Given the description of an element on the screen output the (x, y) to click on. 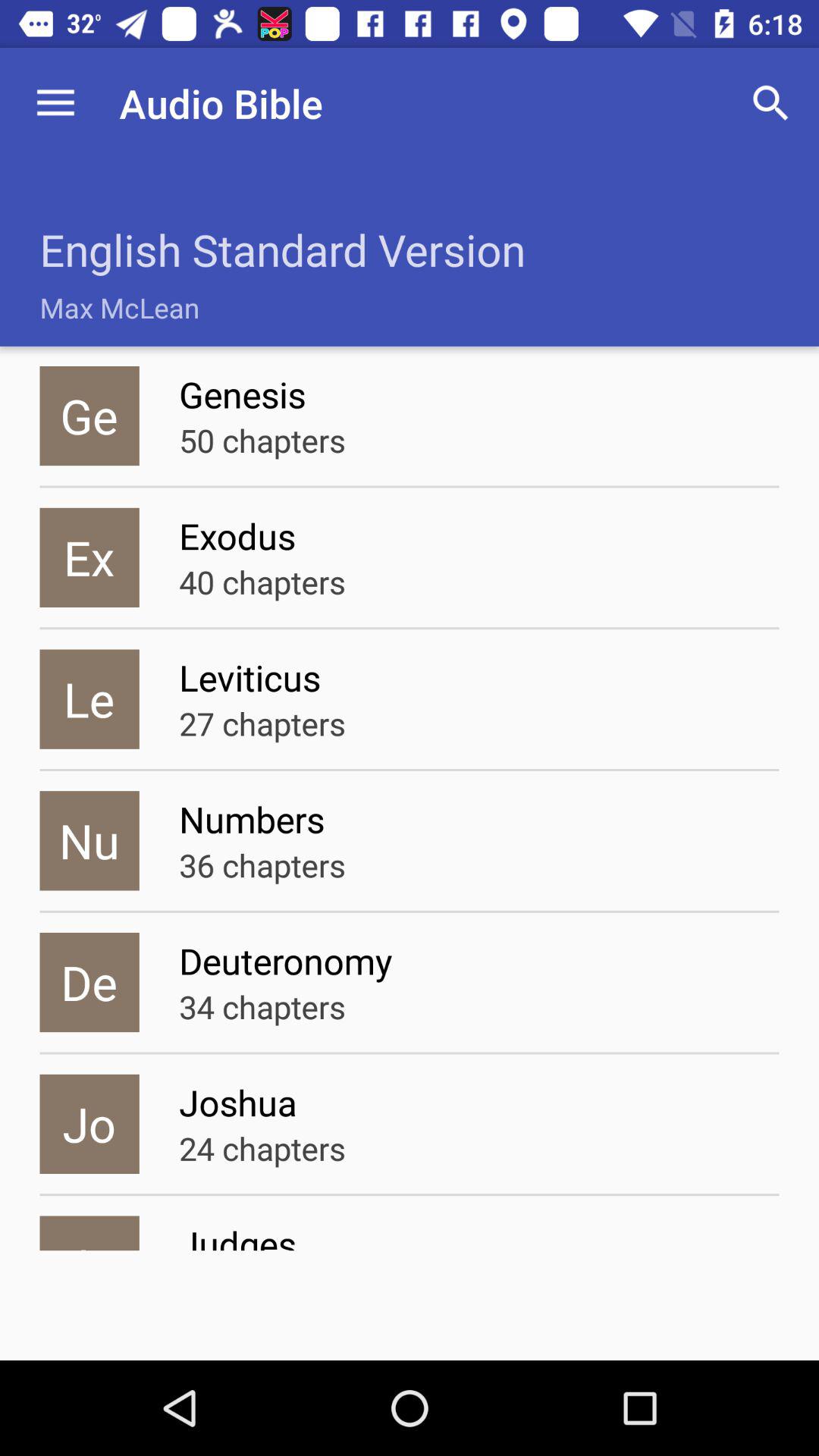
scroll until the ju (89, 1232)
